Given the description of an element on the screen output the (x, y) to click on. 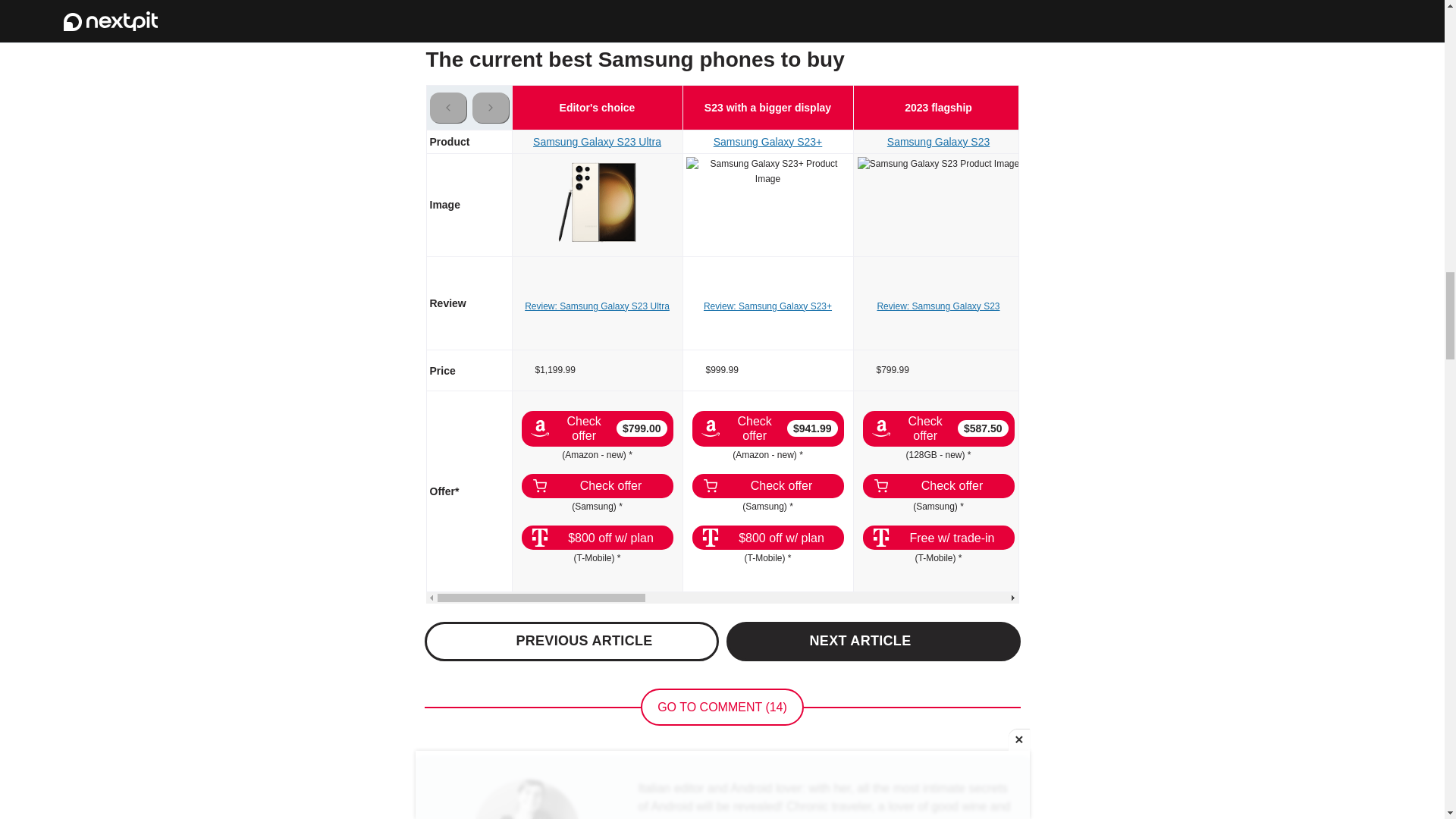
Samsung Galaxy S23 Product Image (938, 164)
Samsung Galaxy Z Fold 4 Product Image (1279, 171)
Samsung Galaxy S23 Ultra Product Image (597, 202)
Samsung Galaxy Z Fold 5 Product Image (1108, 171)
